Given the description of an element on the screen output the (x, y) to click on. 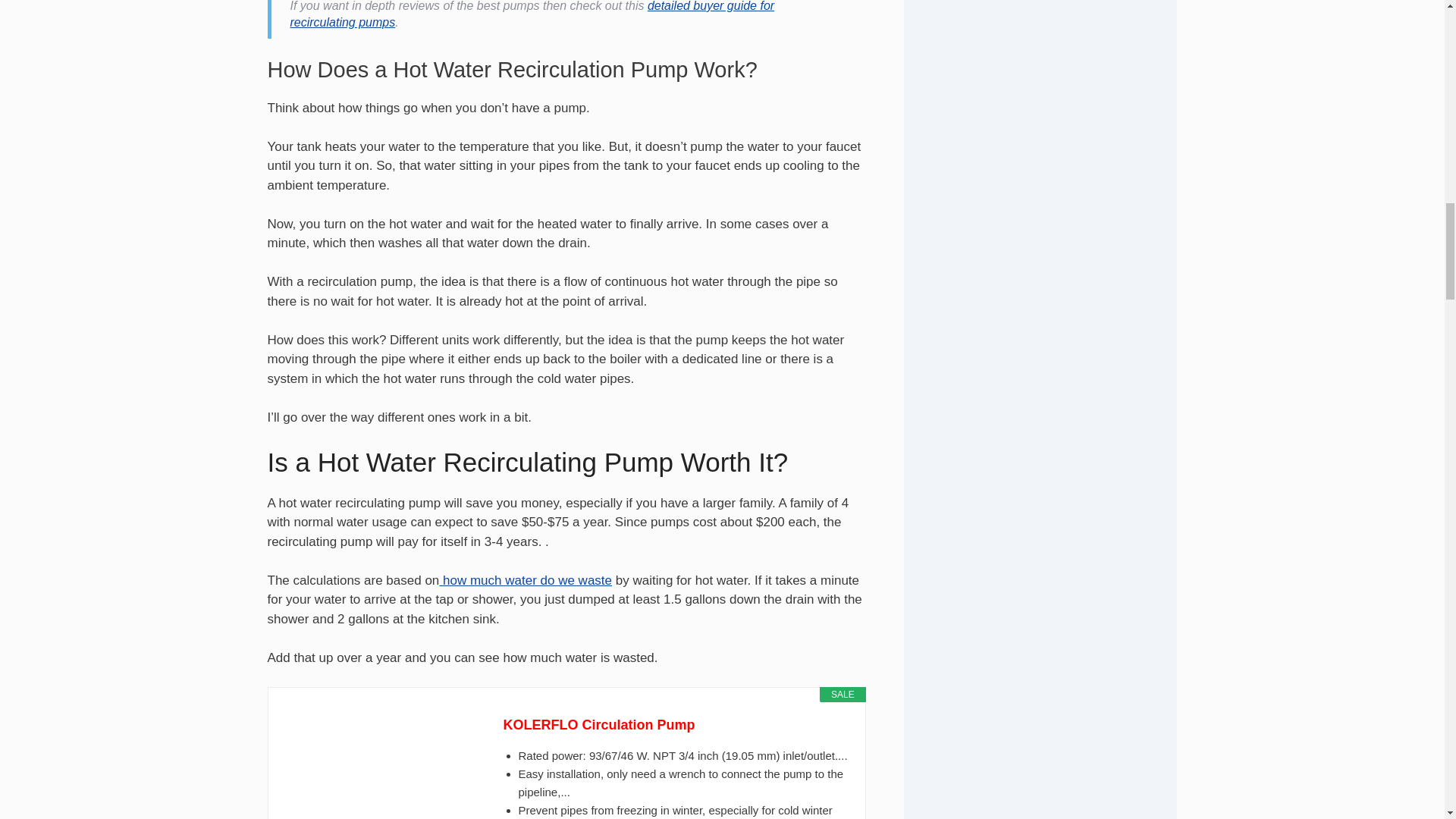
KOLERFLO Circulation Pump (378, 766)
KOLERFLO Circulation Pump (676, 725)
